Given the description of an element on the screen output the (x, y) to click on. 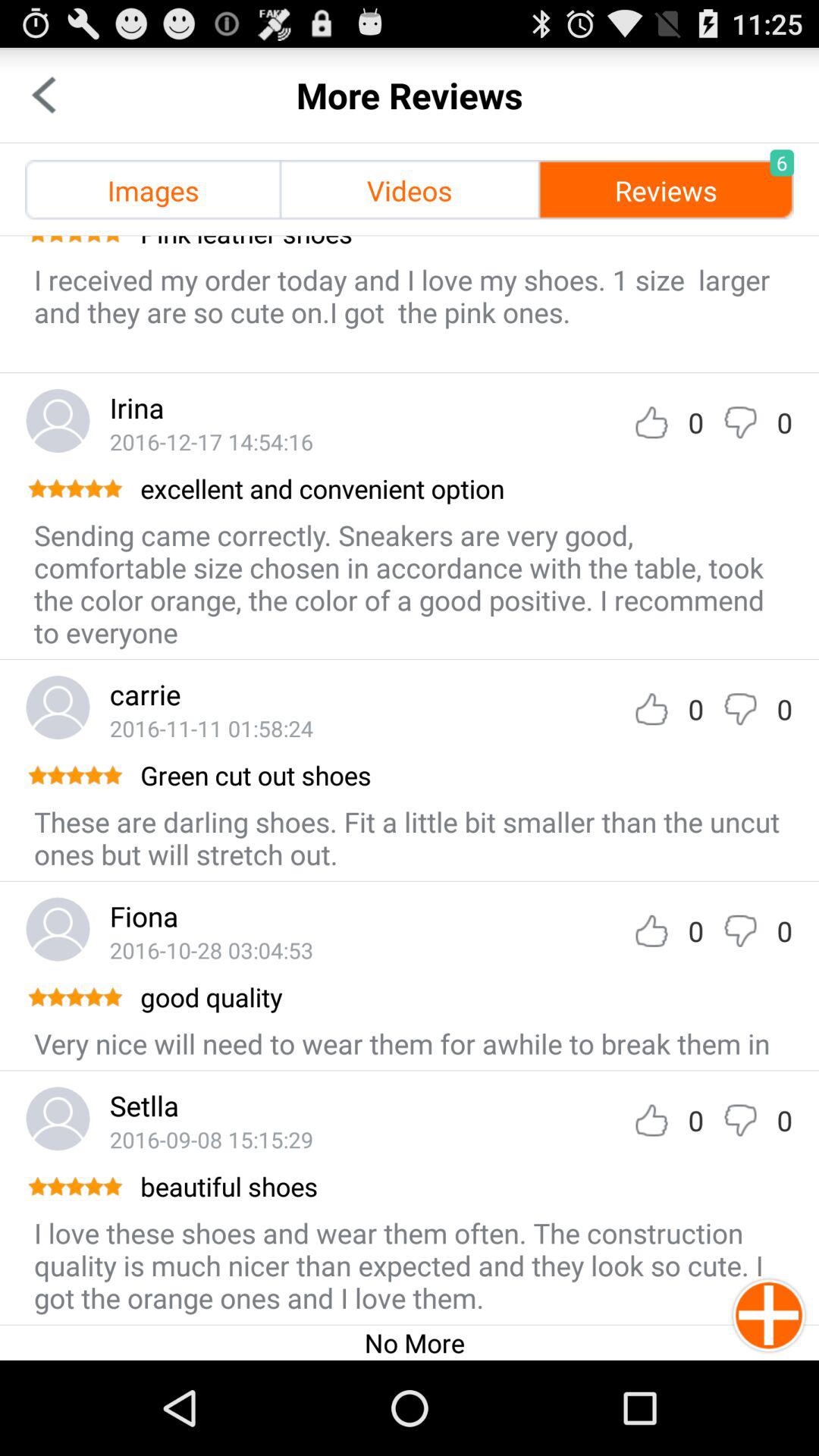
swipe to setlla icon (144, 1105)
